Given the description of an element on the screen output the (x, y) to click on. 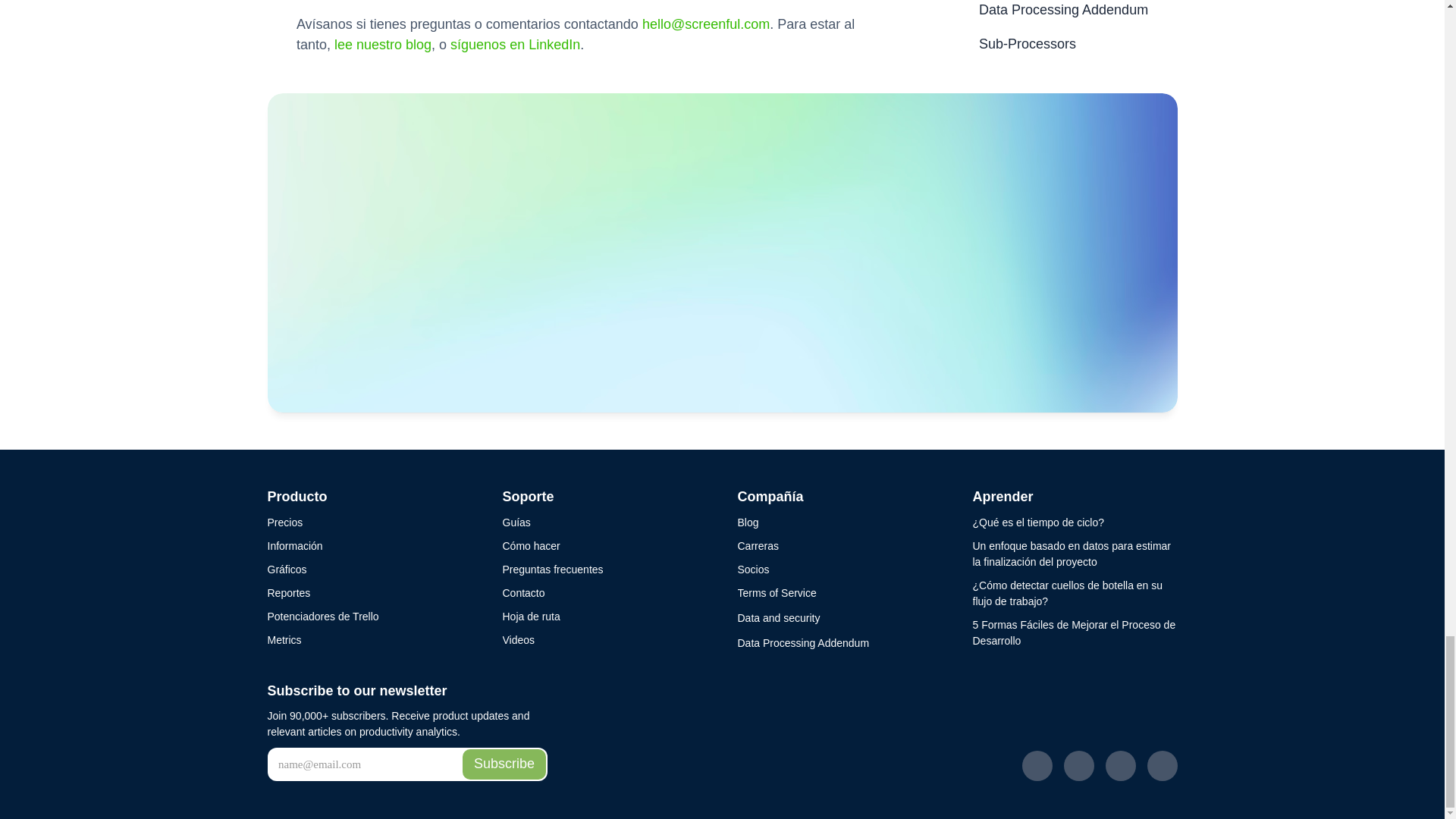
Contacto (523, 592)
Hoja de ruta (530, 616)
Blog (747, 522)
lee nuestro blog (382, 44)
Potenciadores de Trello (322, 616)
Preguntas frecuentes (552, 569)
Precios (284, 522)
Metrics (283, 639)
Reportes (288, 592)
Videos (518, 639)
